Given the description of an element on the screen output the (x, y) to click on. 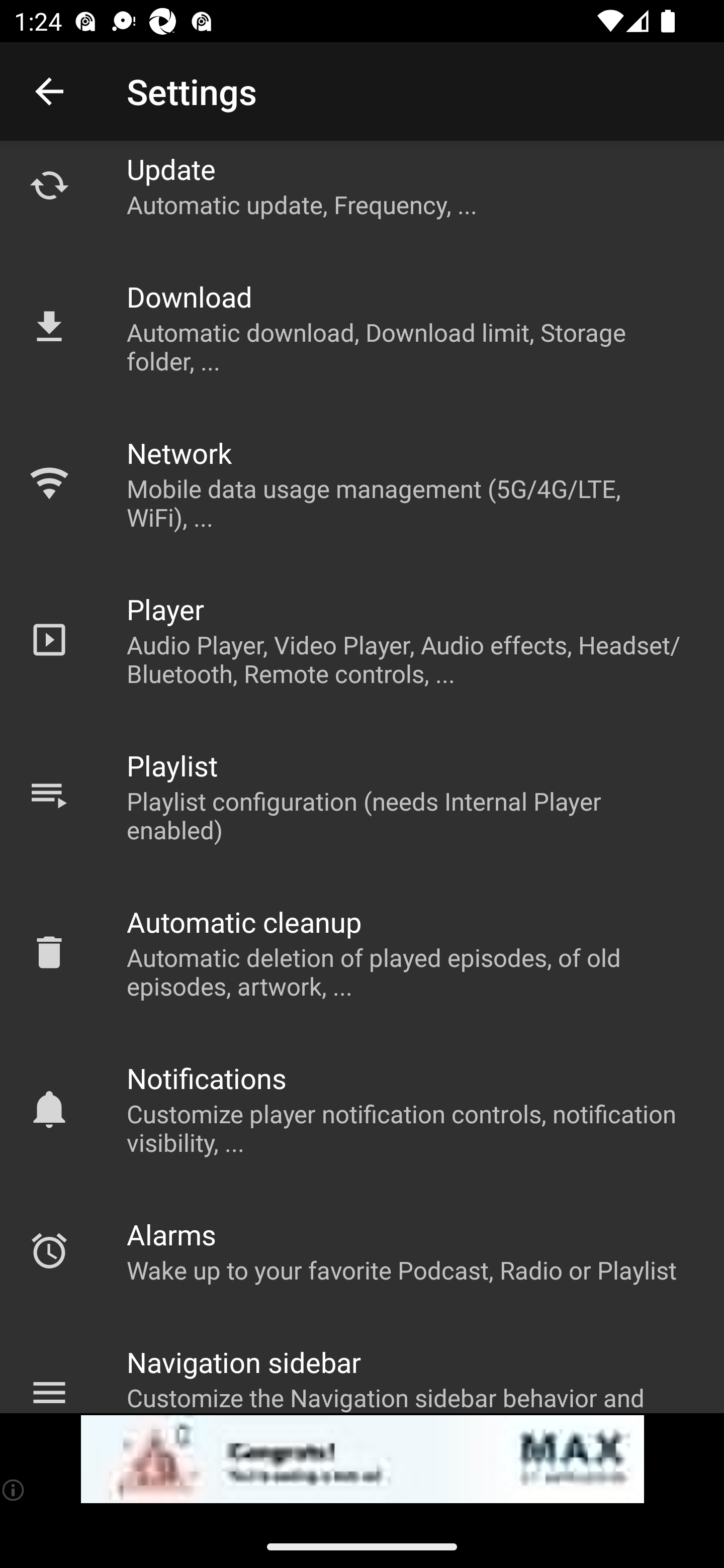
Navigate up (49, 91)
Update Automatic update, Frequency, ... (362, 195)
app-monetization (362, 1459)
(i) (14, 1489)
